Given the description of an element on the screen output the (x, y) to click on. 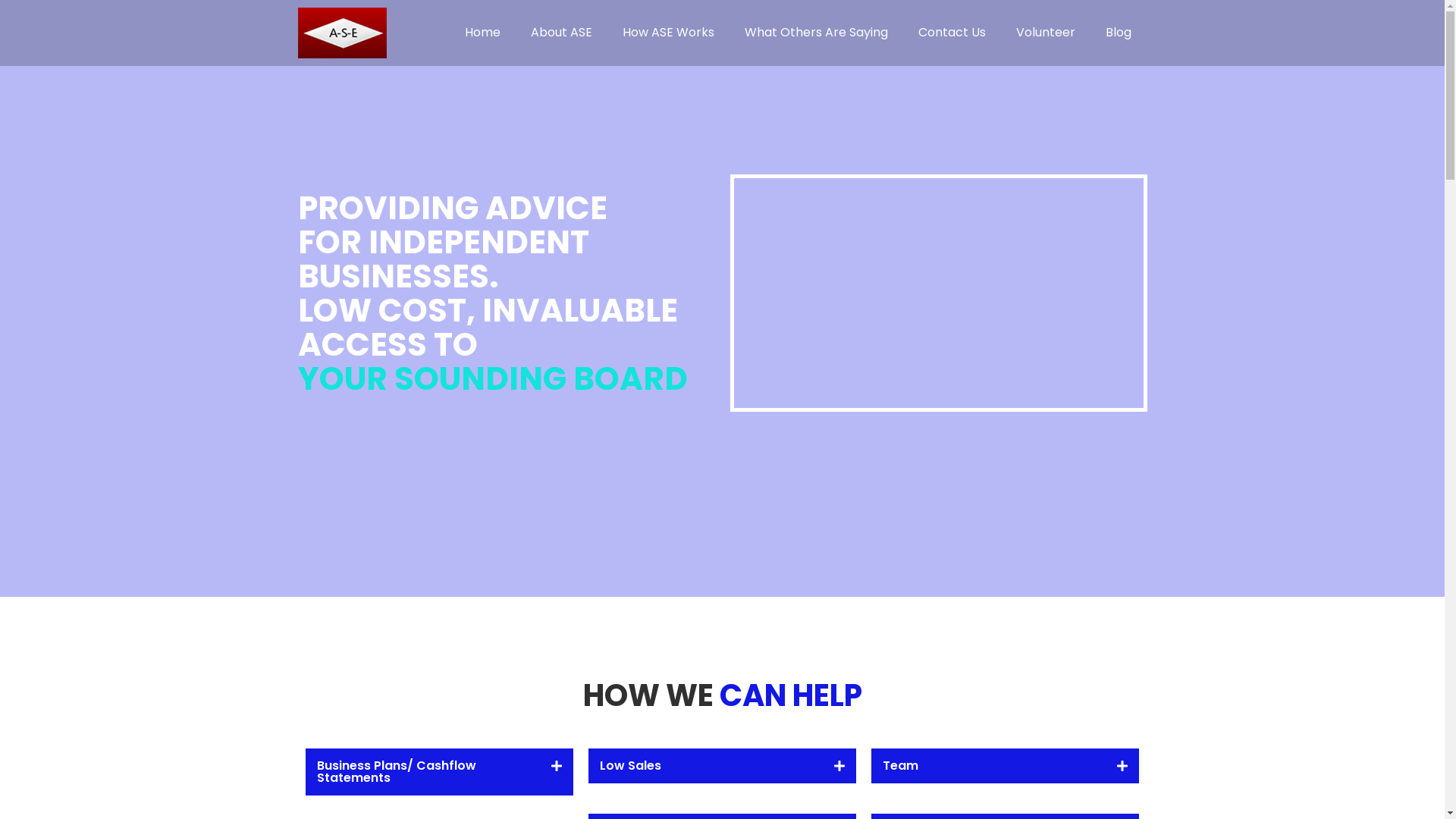
What Others Are Saying Element type: text (816, 32)
Blog Element type: text (1118, 32)
Volunteer Element type: text (1045, 32)
Business Plans/ Cashflow Statements Element type: text (396, 771)
Team Element type: text (900, 765)
Contact Us Element type: text (952, 32)
About ASE Element type: text (561, 32)
Low Sales Element type: text (630, 765)
Home Element type: text (482, 32)
How ASE Works Element type: text (668, 32)
